Given the description of an element on the screen output the (x, y) to click on. 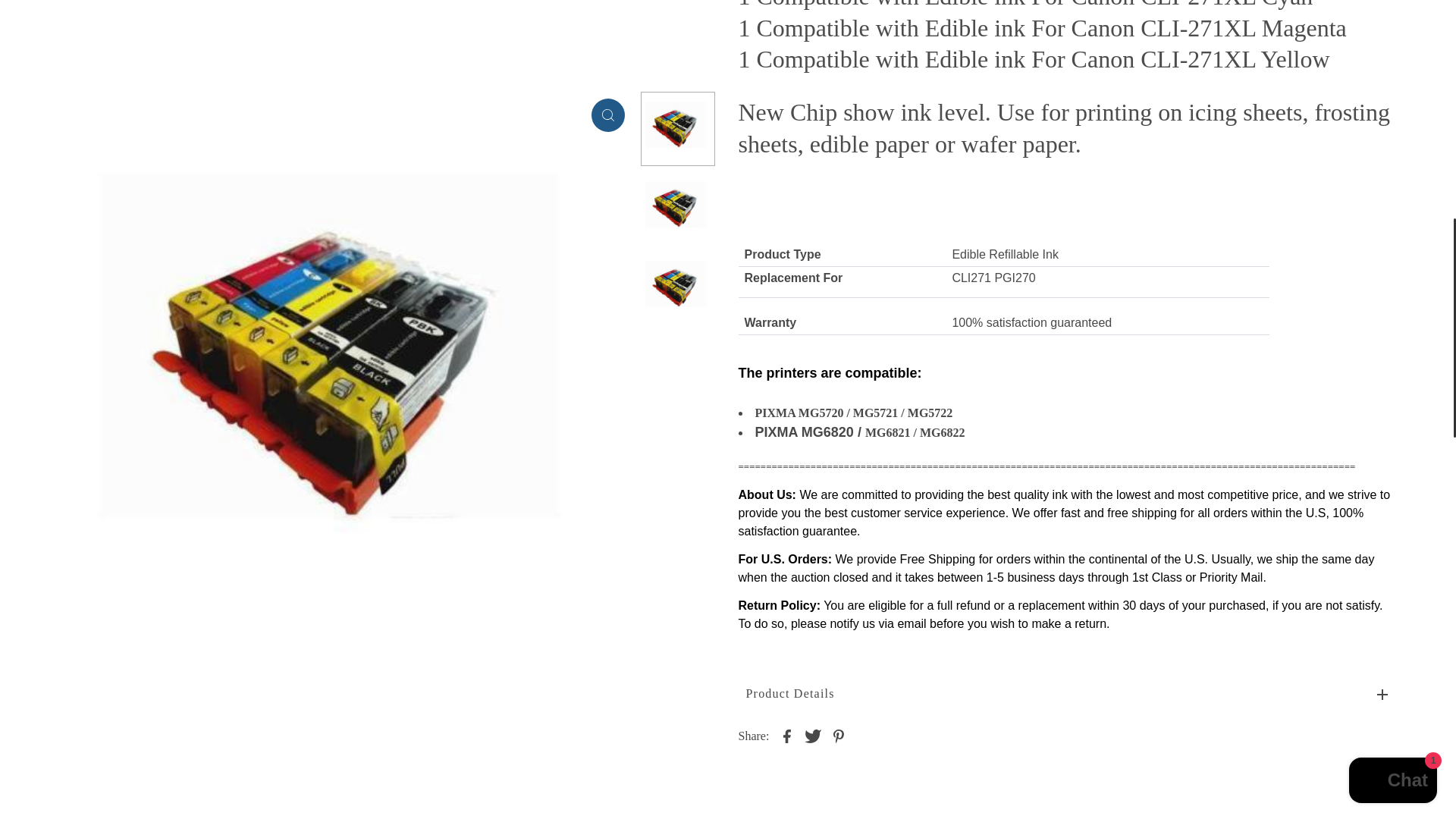
Share on Facebook (786, 734)
Share on Twitter (813, 734)
Share on Pinterest (838, 734)
